Given the description of an element on the screen output the (x, y) to click on. 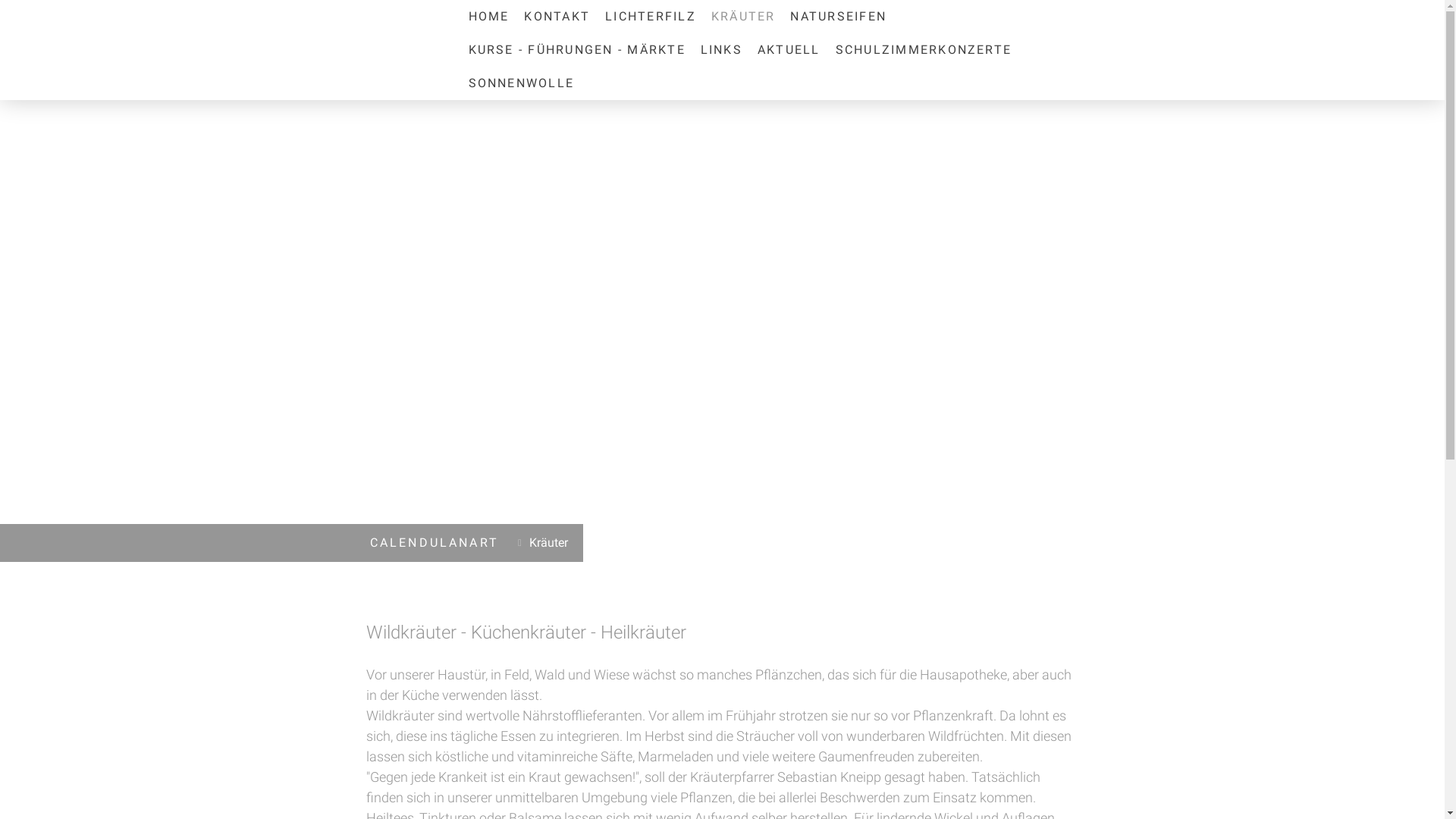
KONTAKT Element type: text (556, 16)
NATURSEIFEN Element type: text (838, 16)
HOME Element type: text (489, 16)
LINKS Element type: text (721, 49)
AKTUELL Element type: text (788, 49)
SONNENWOLLE Element type: text (521, 83)
SCHULZIMMERKONZERTE Element type: text (923, 49)
LICHTERFILZ Element type: text (650, 16)
CALENDULANART Element type: text (434, 542)
